Given the description of an element on the screen output the (x, y) to click on. 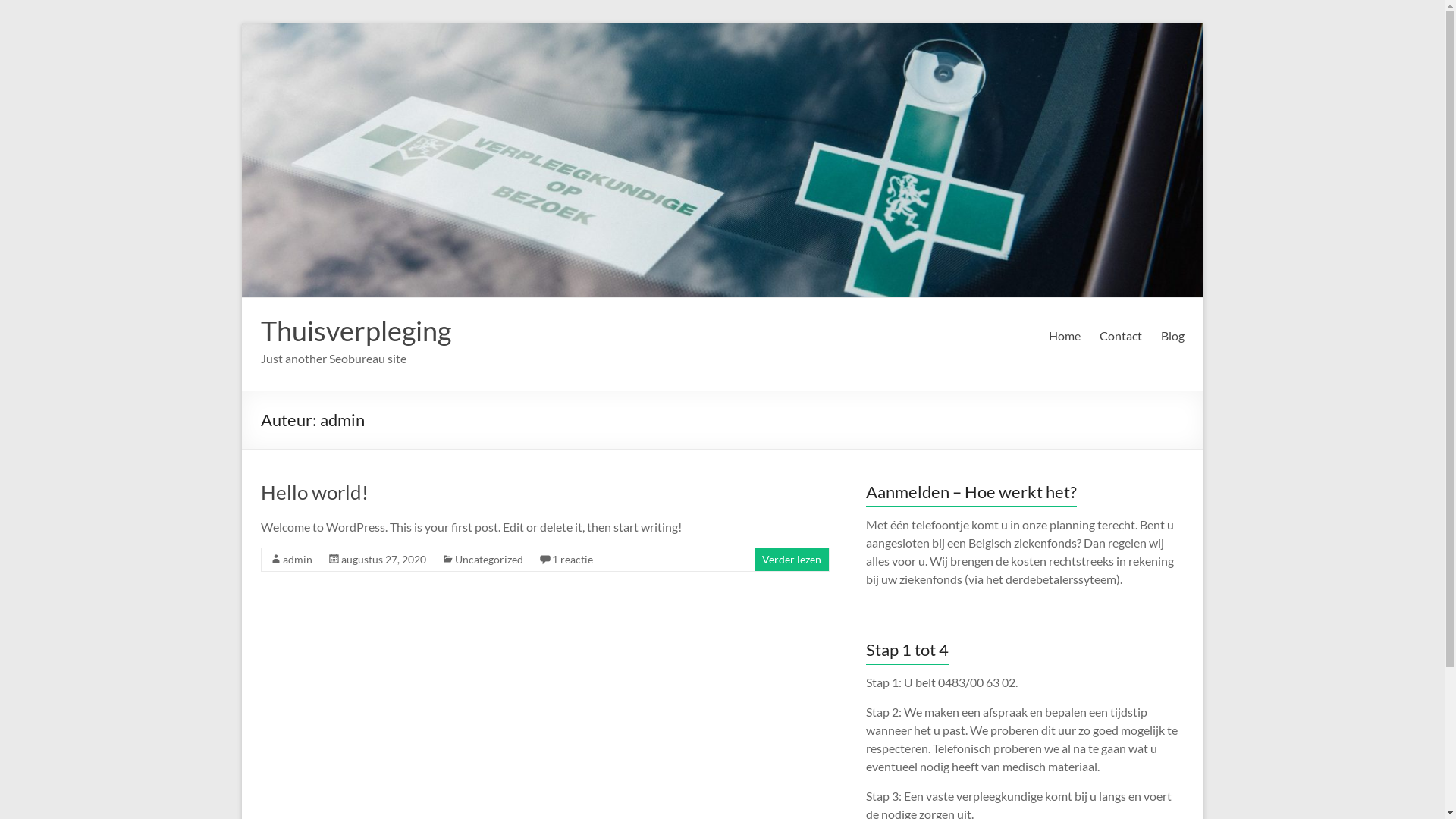
Hello world! Element type: text (314, 492)
Contact Element type: text (1120, 335)
Verder lezen Element type: text (790, 558)
Blog Element type: text (1171, 335)
augustus 27, 2020 Element type: text (383, 558)
Home Element type: text (1063, 335)
Ga naar inhoud Element type: text (241, 21)
1 reactie Element type: text (572, 558)
admin Element type: text (296, 558)
Uncategorized Element type: text (489, 558)
Thuisverpleging Element type: text (355, 330)
